Given the description of an element on the screen output the (x, y) to click on. 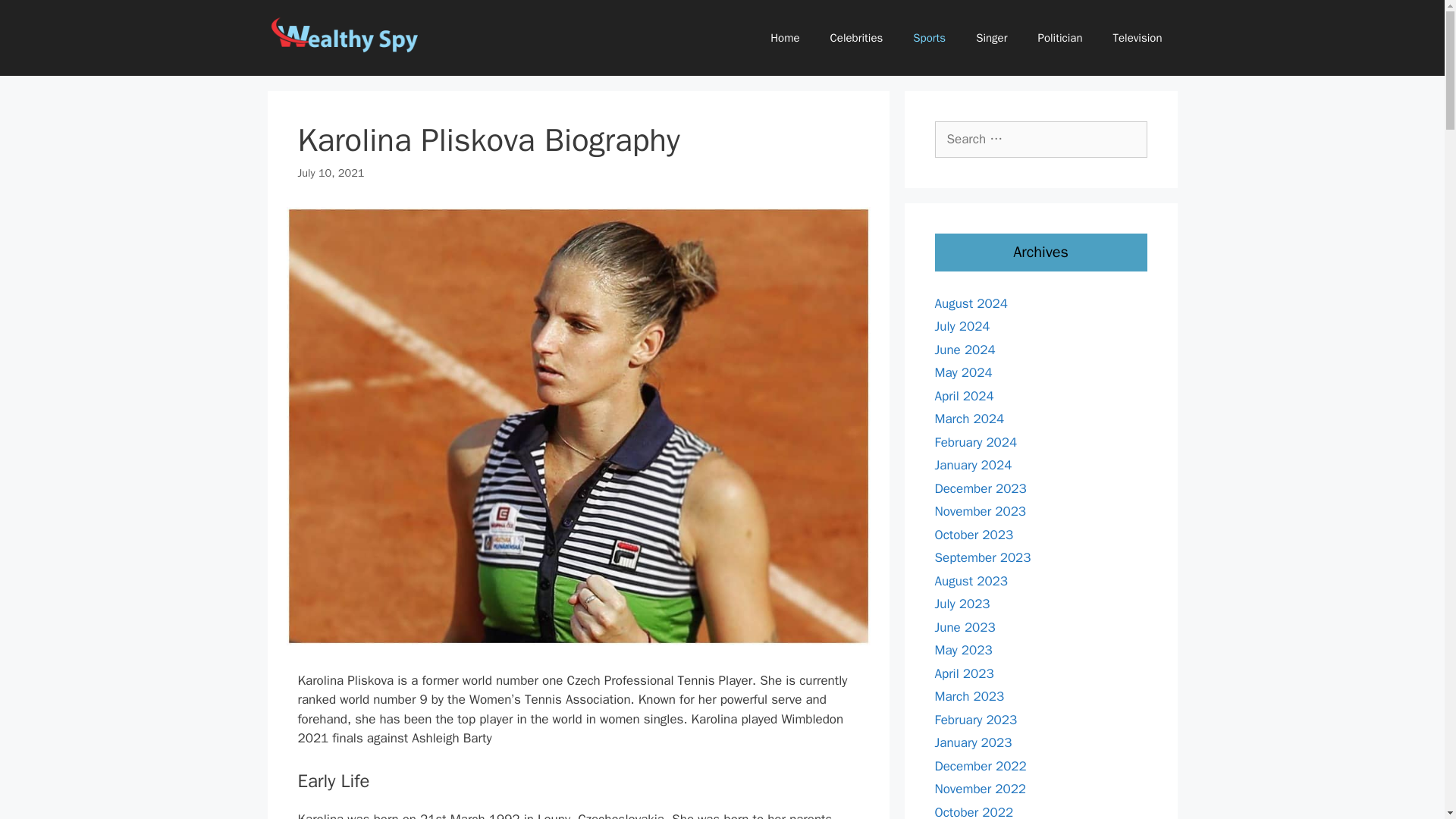
Politician (1059, 37)
August 2023 (970, 580)
April 2024 (963, 396)
December 2023 (980, 488)
July 2024 (962, 326)
January 2024 (972, 465)
August 2024 (970, 303)
September 2023 (982, 557)
May 2024 (962, 372)
Home (784, 37)
